Given the description of an element on the screen output the (x, y) to click on. 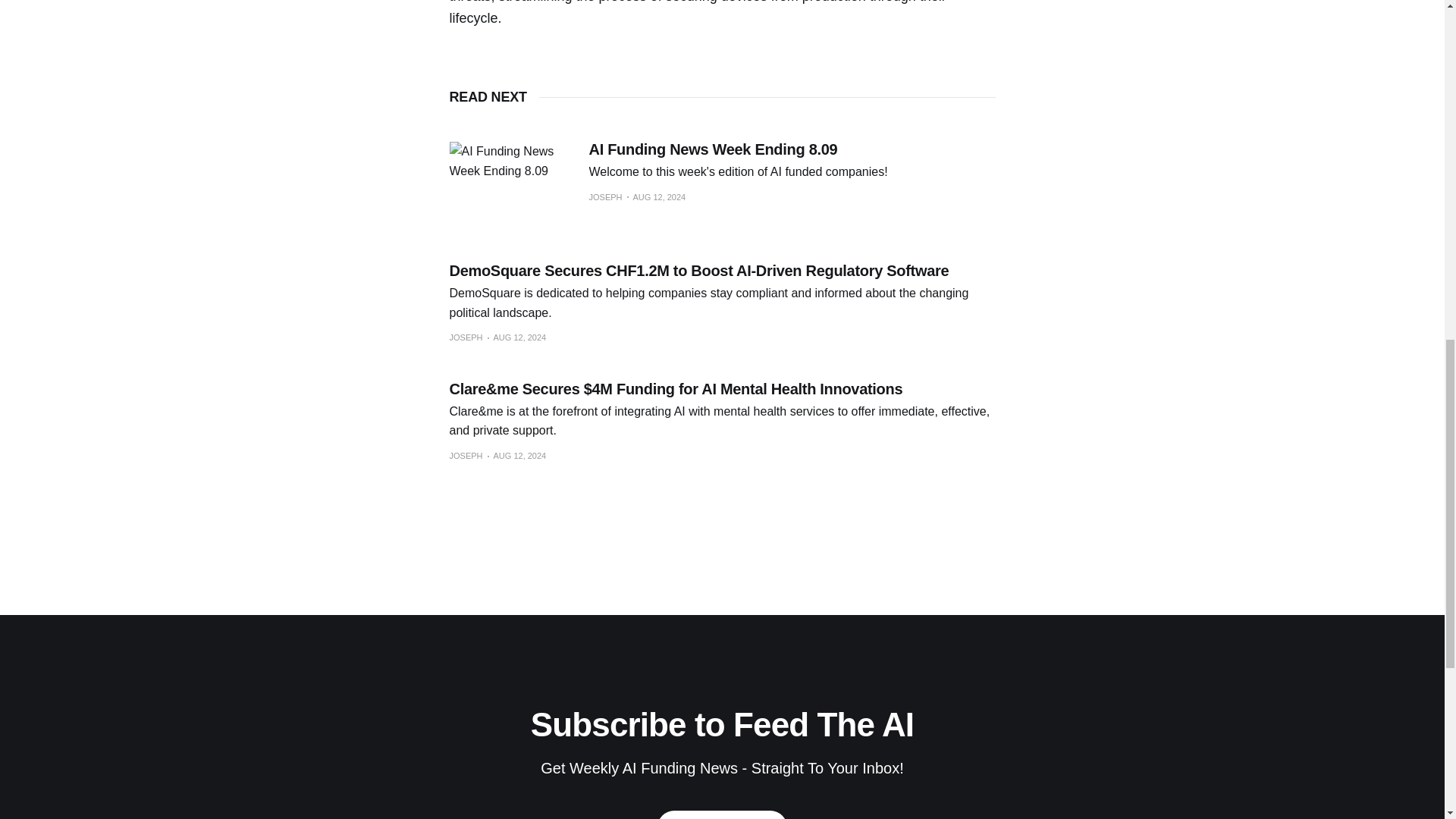
Subscribe now (722, 814)
